Given the description of an element on the screen output the (x, y) to click on. 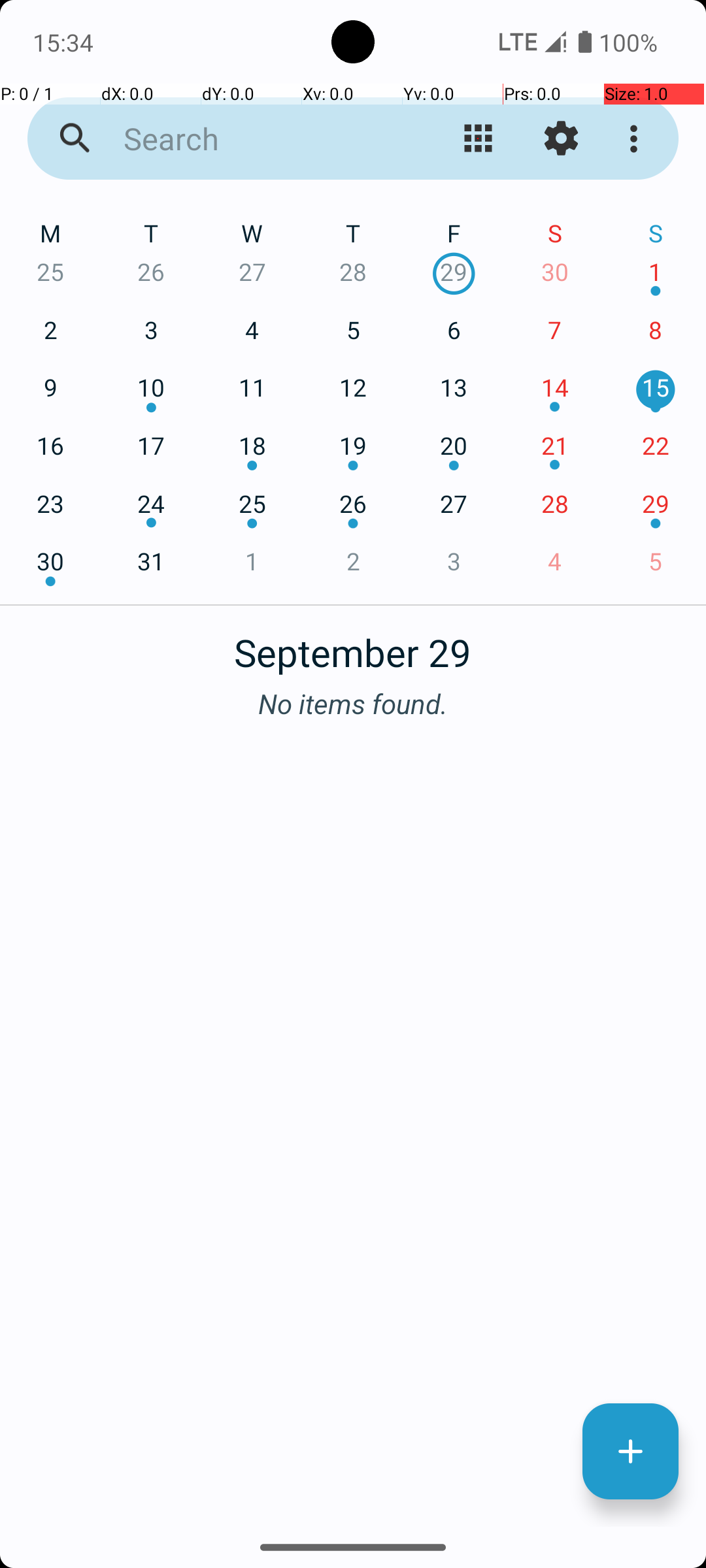
September 29 Element type: android.widget.TextView (352, 644)
